Given the description of an element on the screen output the (x, y) to click on. 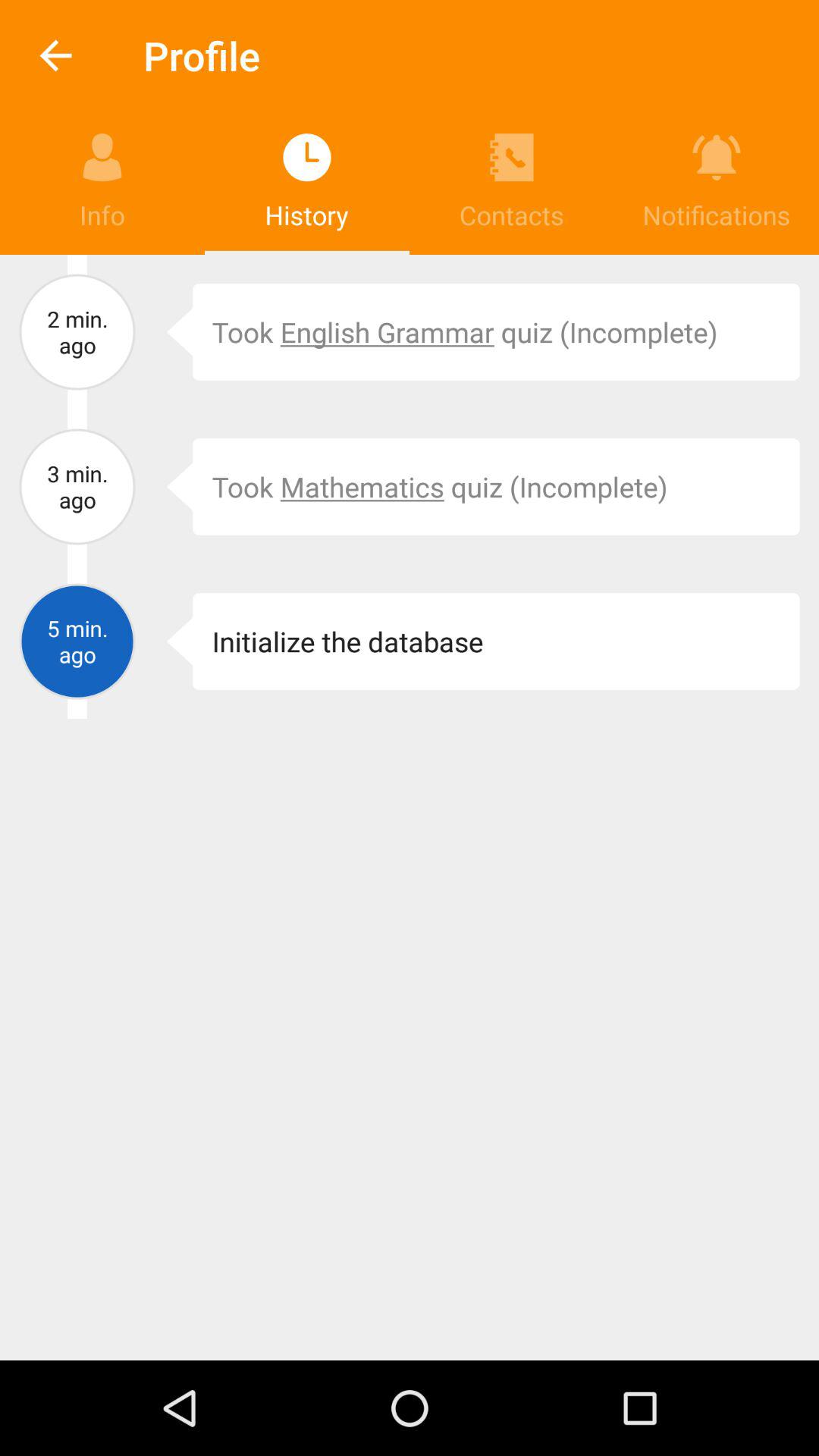
turn on item to the right of the 3 min. ago item (168, 486)
